Given the description of an element on the screen output the (x, y) to click on. 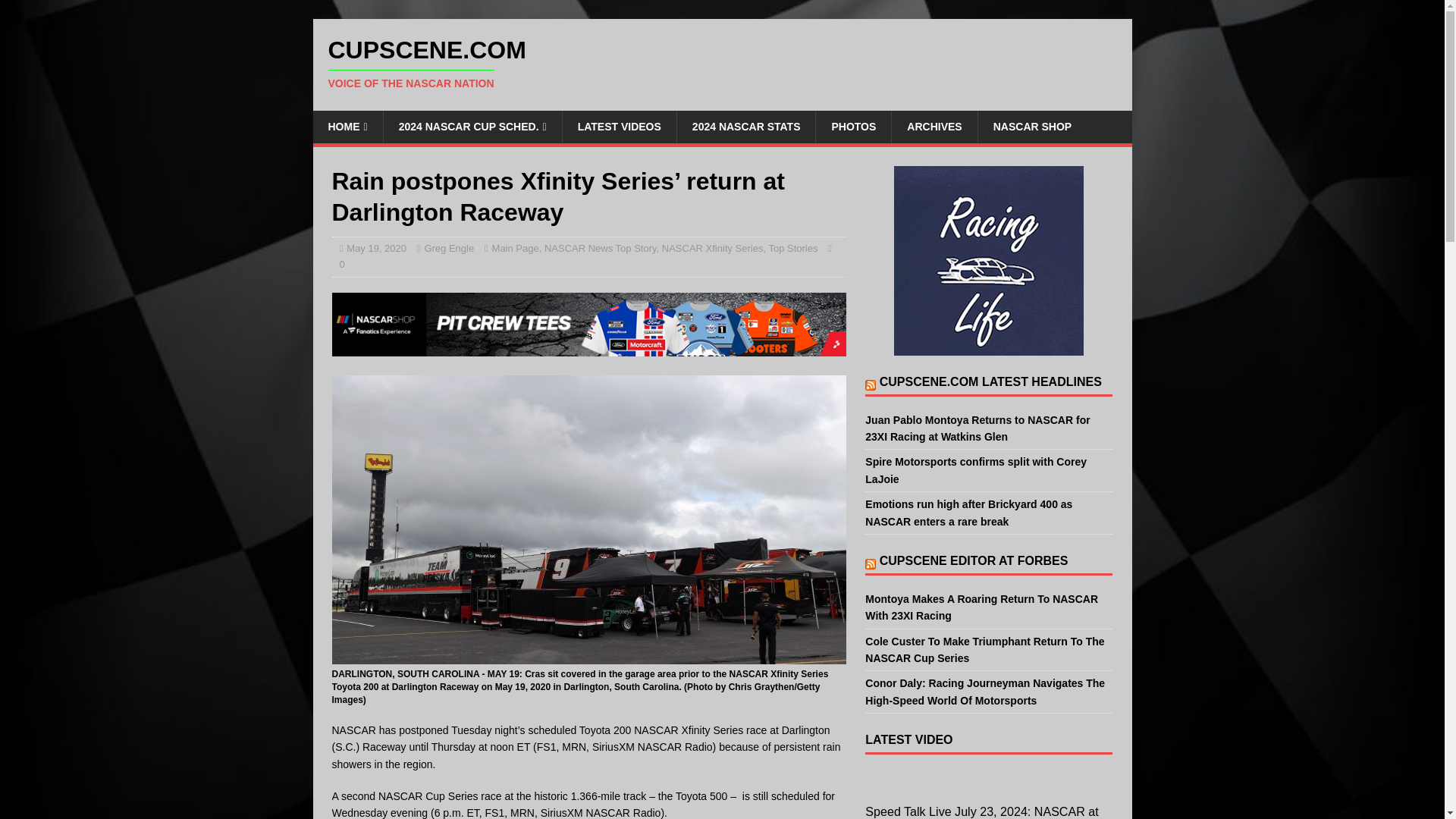
Greg Engle (448, 247)
2024 NASCAR STATS (746, 126)
ARCHIVES (933, 126)
NASCAR News Top Story (600, 247)
NASCAR SHOP (1031, 126)
PHOTOS (853, 126)
May 19, 2020 (376, 247)
LATEST VIDEOS (619, 126)
Top Stories (792, 247)
2024 NASCAR CUP SCHED. (472, 126)
Main Page (515, 247)
CupScene.com (721, 63)
HOME (347, 126)
Speed Talk Live July 23, 2024: NASCAR at the Brickyard (721, 63)
